Given the description of an element on the screen output the (x, y) to click on. 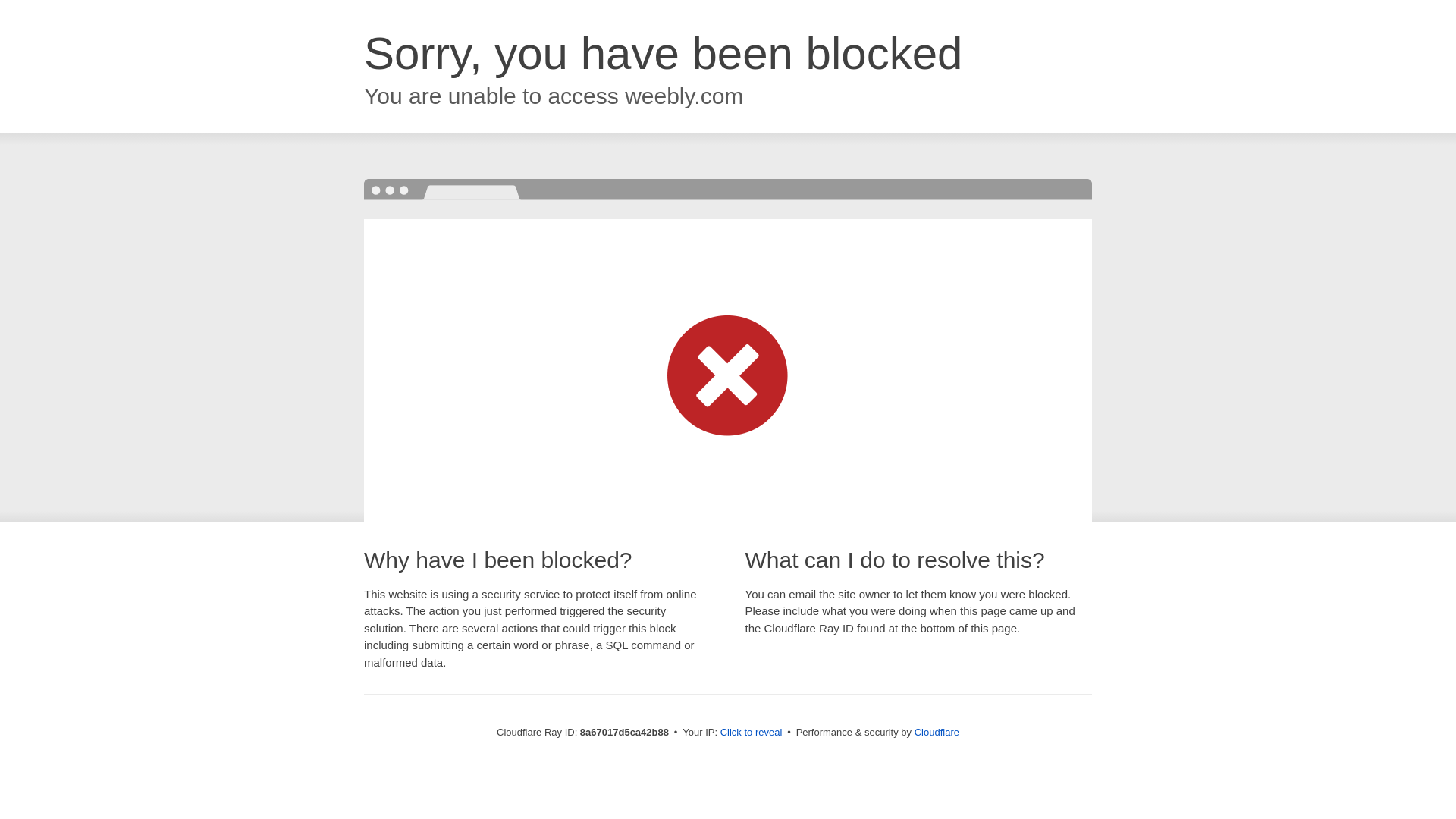
Cloudflare (936, 731)
Click to reveal (751, 732)
